Given the description of an element on the screen output the (x, y) to click on. 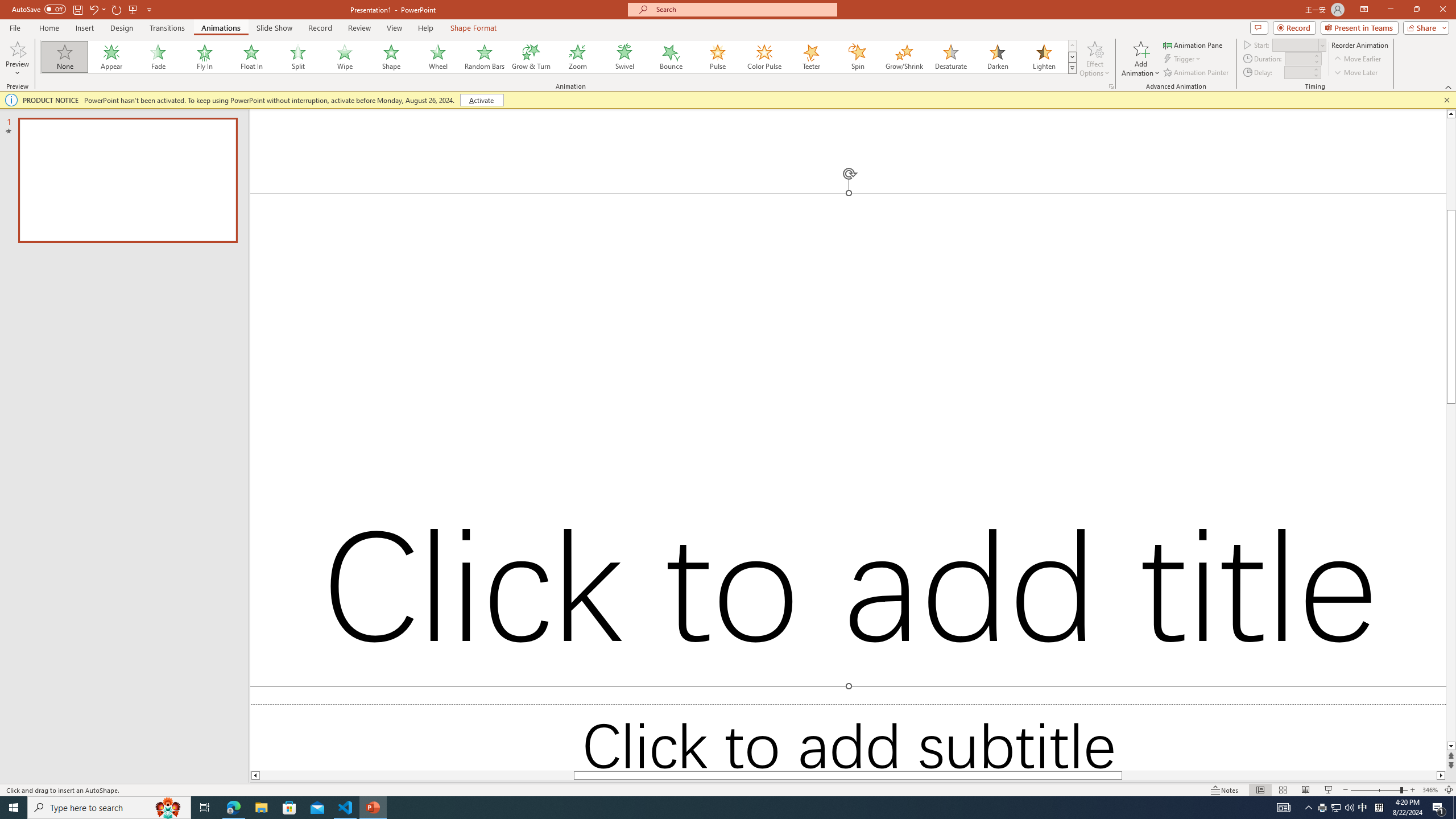
Close this message (1446, 99)
Wheel (437, 56)
Swivel (624, 56)
Move Earlier (1357, 58)
AutomationID: AnimationGallery (558, 56)
